Given the description of an element on the screen output the (x, y) to click on. 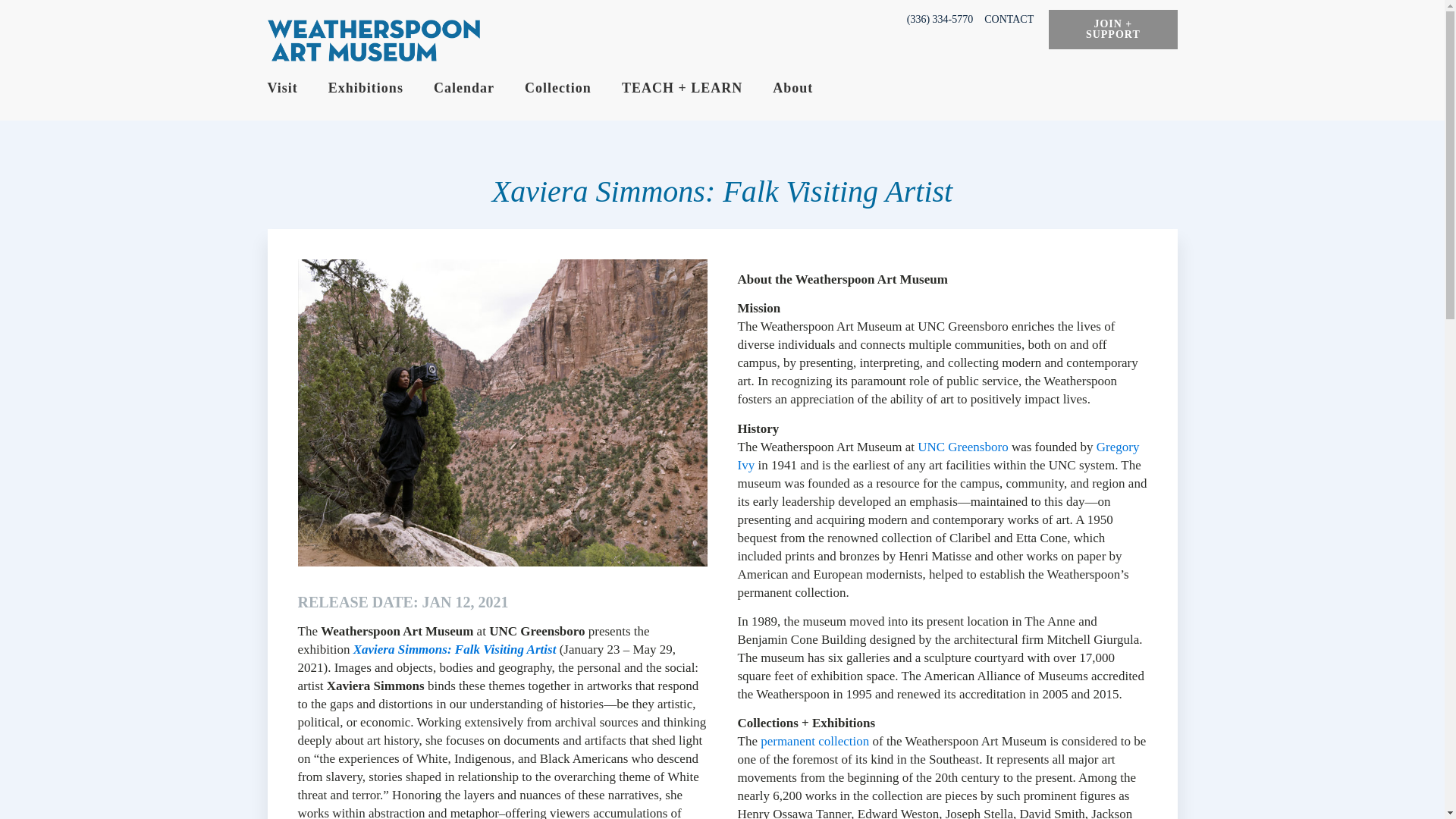
Xaviera Simmons: Falk Visiting Artist (454, 649)
Gregory Ivy (937, 455)
Calendar (478, 88)
CONTACT (1008, 19)
Visit (296, 88)
About (808, 88)
UNC Greensboro  (964, 446)
Exhibitions (381, 88)
permanent collection (814, 740)
Collection (572, 88)
